Given the description of an element on the screen output the (x, y) to click on. 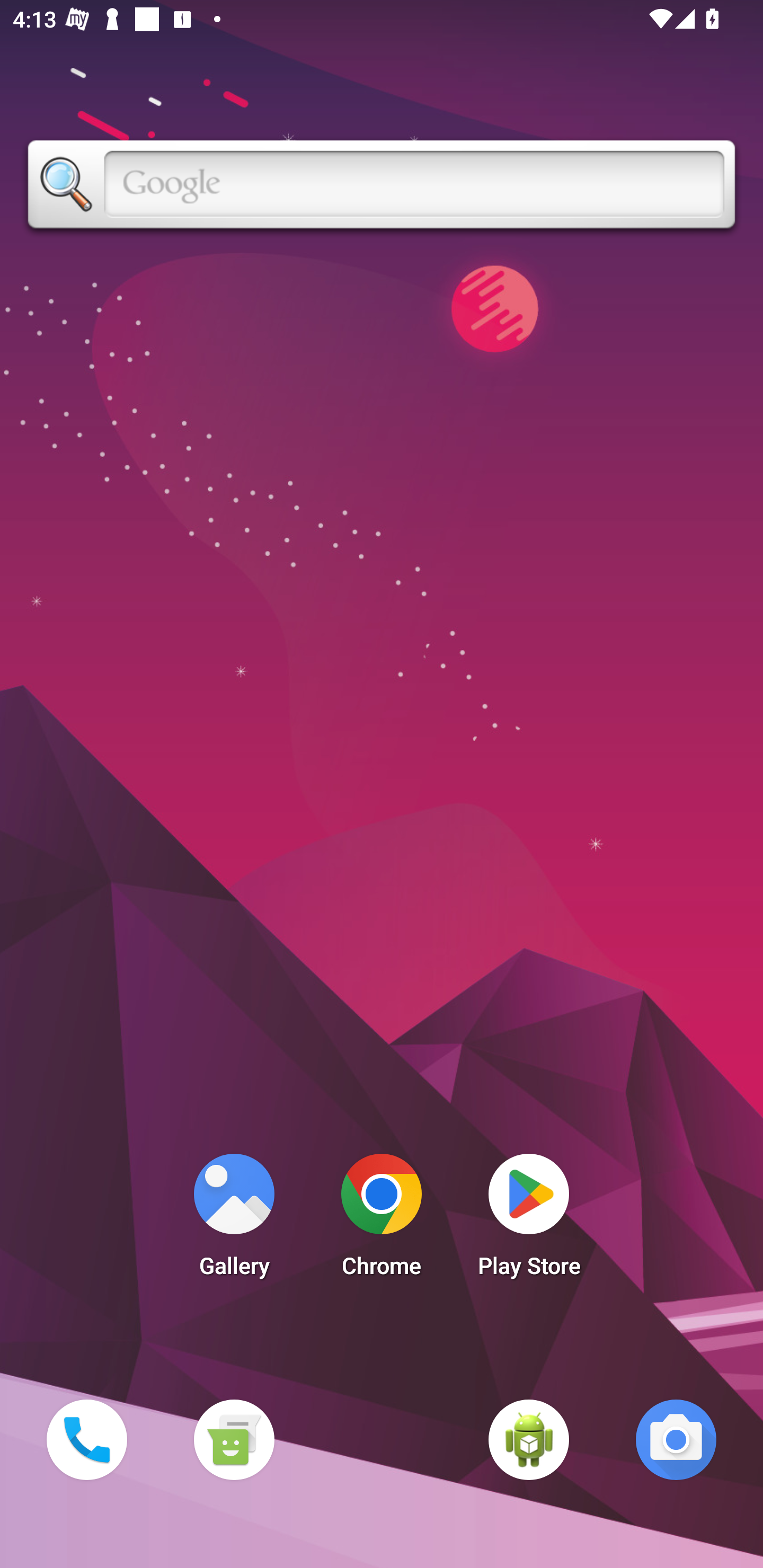
Gallery (233, 1220)
Chrome (381, 1220)
Play Store (528, 1220)
Phone (86, 1439)
Messaging (233, 1439)
WebView Browser Tester (528, 1439)
Camera (676, 1439)
